Given the description of an element on the screen output the (x, y) to click on. 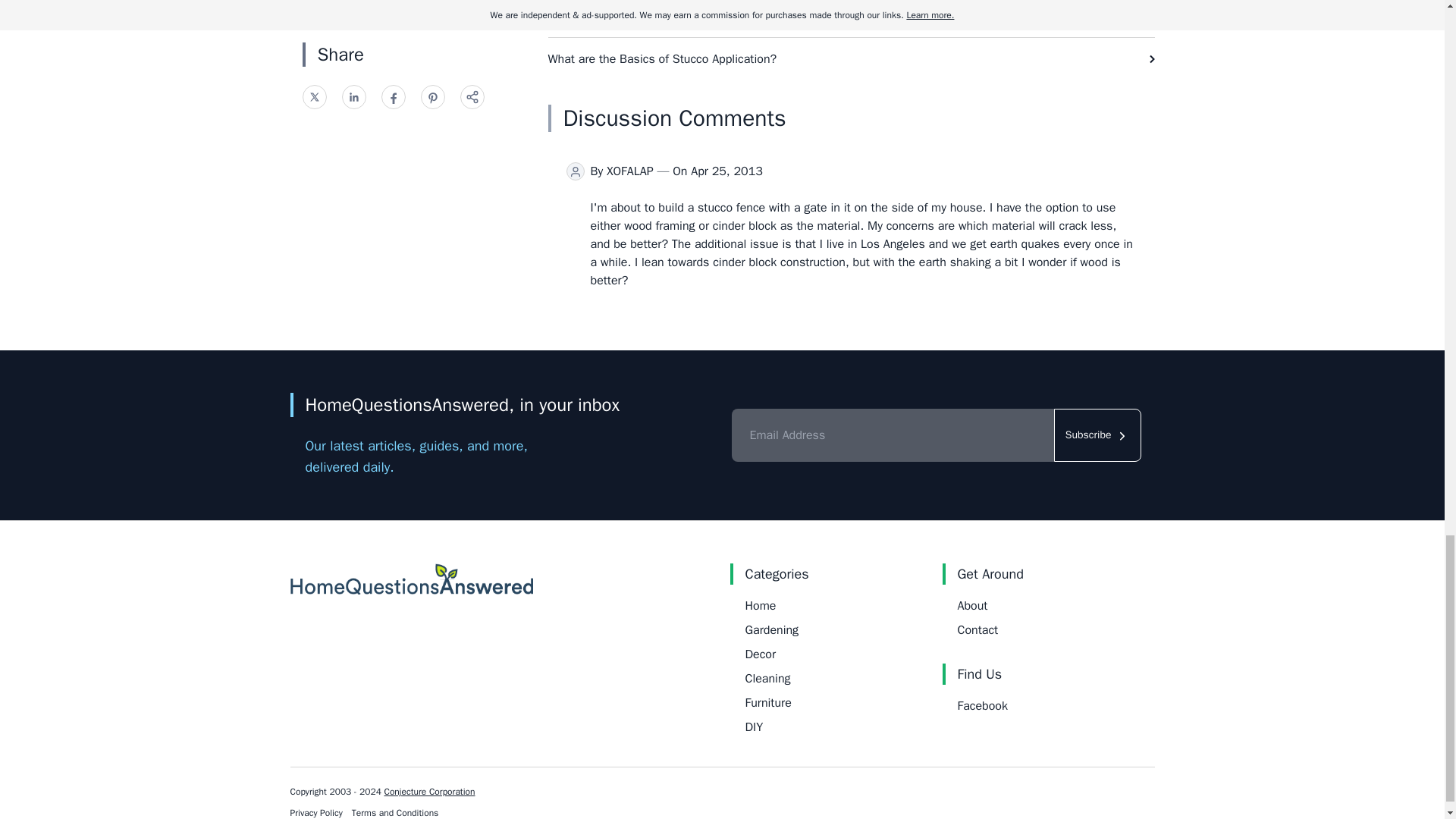
What are the Pros and Cons of Stucco Construction? (850, 18)
